Given the description of an element on the screen output the (x, y) to click on. 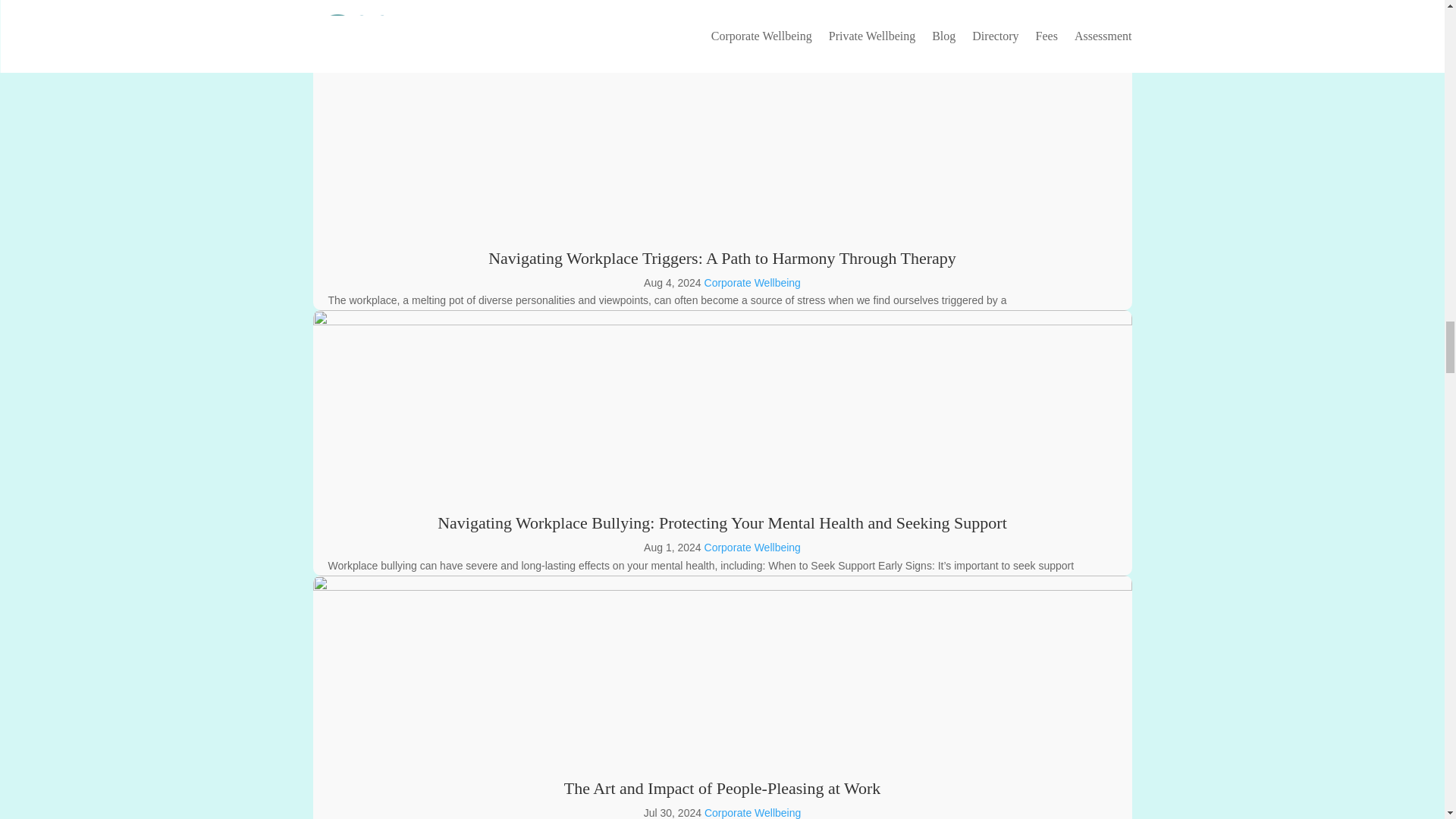
The Art and Impact of People-Pleasing at Work (722, 787)
Corporate Wellbeing (752, 547)
The Art and Impact of People-Pleasing at Work (722, 787)
Corporate Wellbeing (752, 282)
Corporate Wellbeing (752, 812)
